Given the description of an element on the screen output the (x, y) to click on. 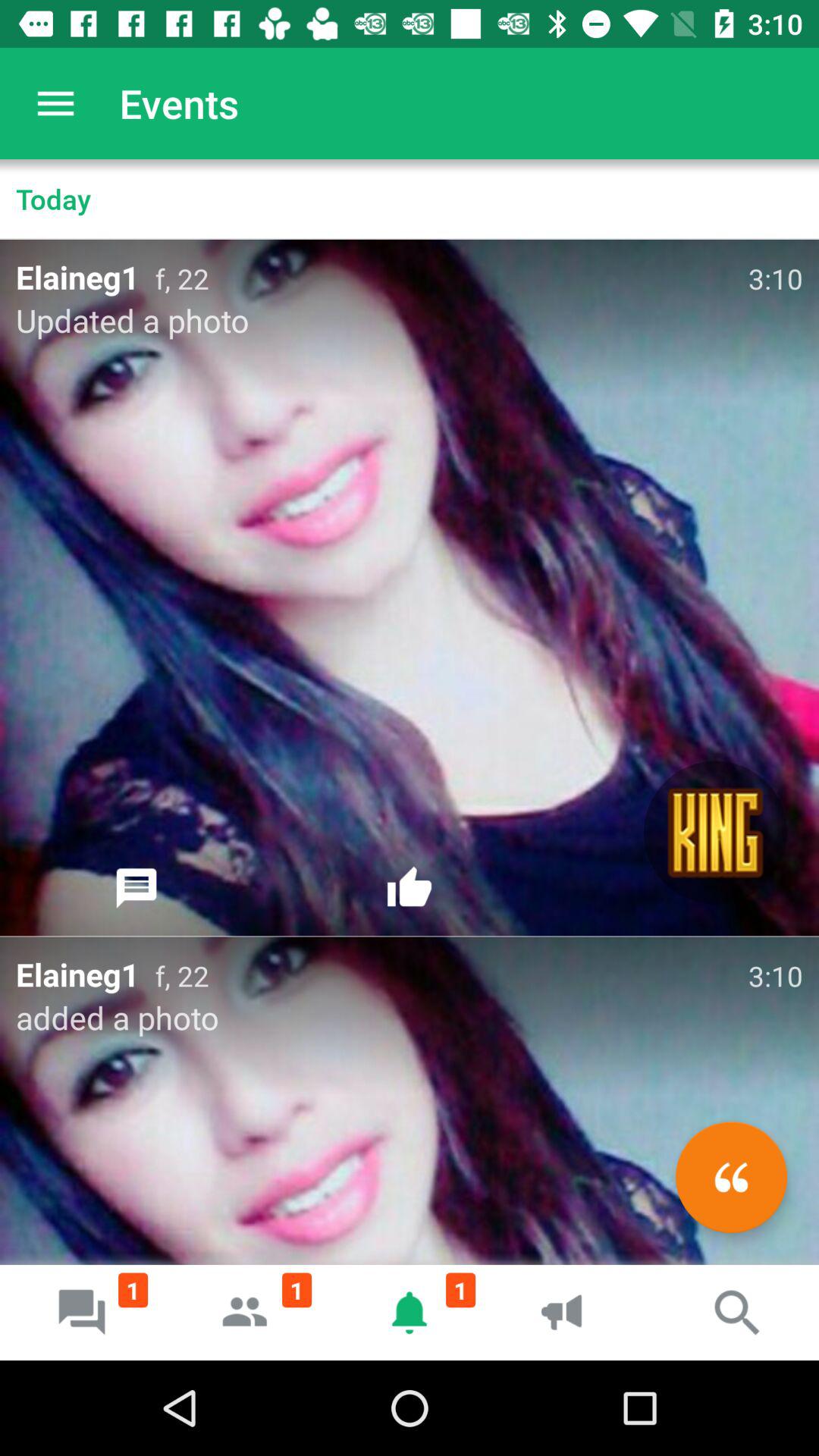
press item above today item (55, 103)
